Given the description of an element on the screen output the (x, y) to click on. 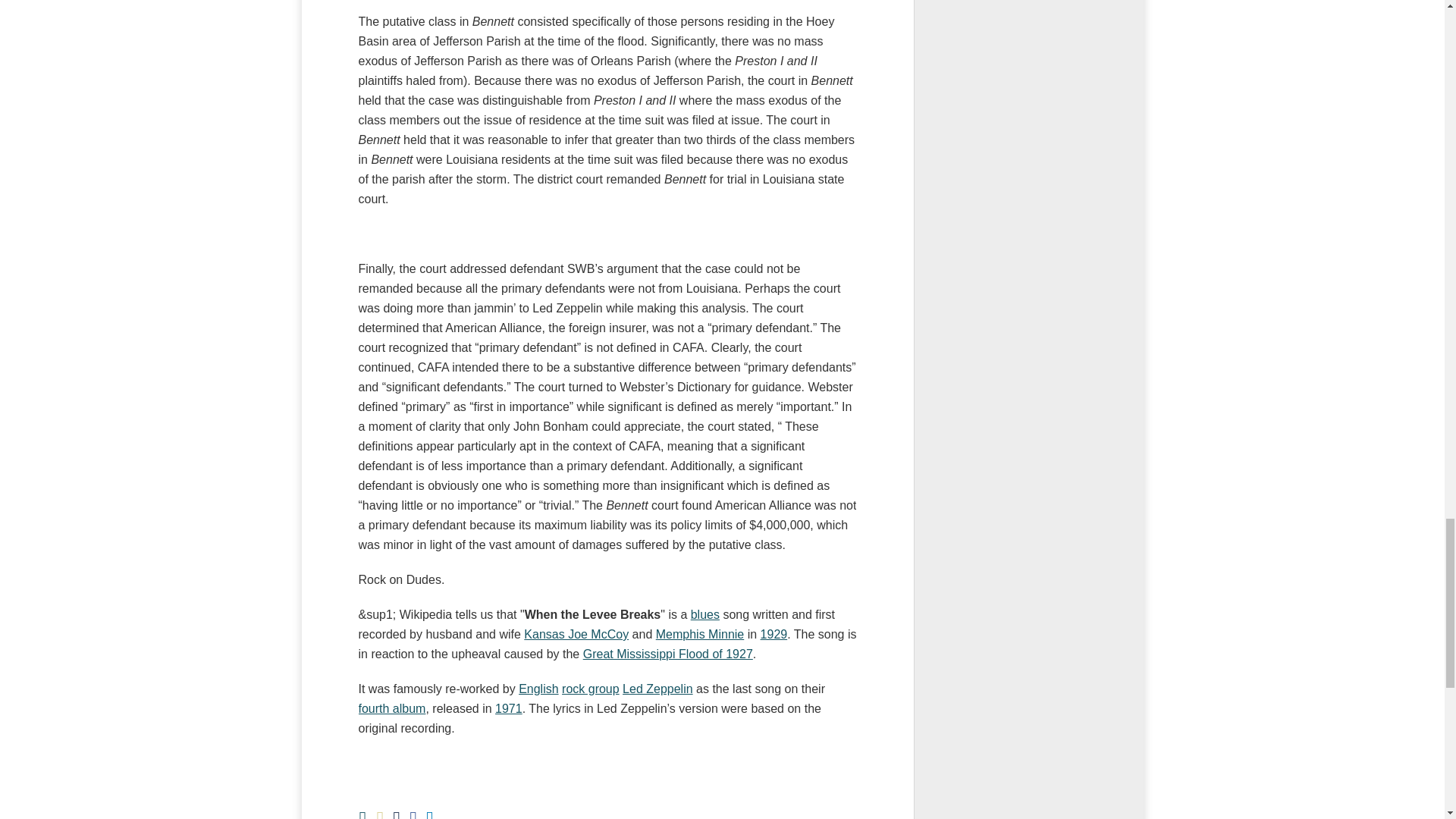
Great Mississippi Flood of 1927 (667, 653)
Blues (704, 614)
fourth album (391, 707)
1971 (508, 707)
Great Mississippi Flood of 1927 (667, 653)
blues (704, 614)
Kansas Joe McCoy (576, 634)
Led Zeppelin (658, 688)
England (537, 688)
English (537, 688)
Rock group (591, 688)
1929 (773, 634)
1929 (773, 634)
Kansas Joe McCoy (576, 634)
Memphis Minnie (700, 634)
